Given the description of an element on the screen output the (x, y) to click on. 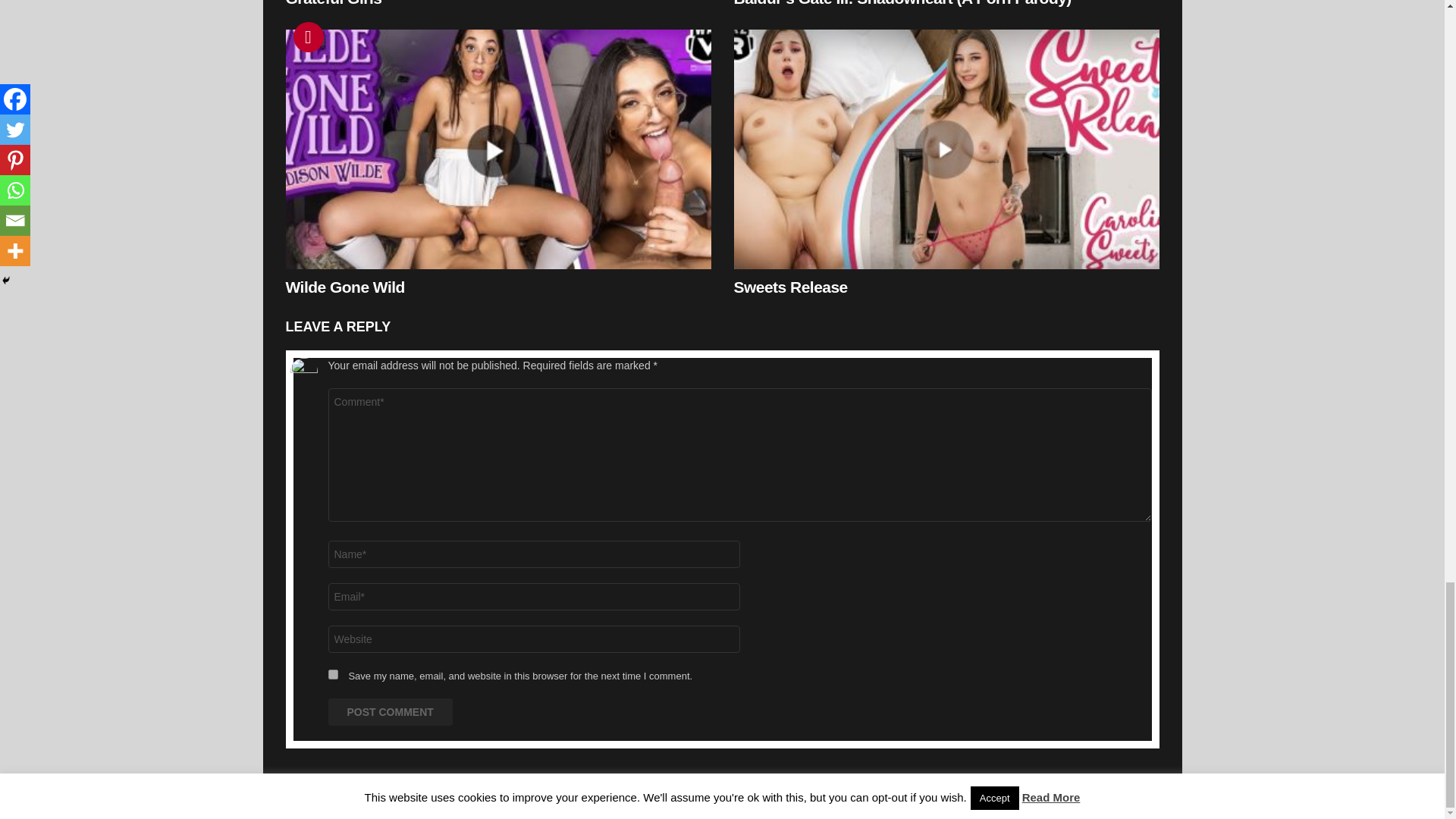
Post Comment (389, 711)
yes (332, 674)
